Given the description of an element on the screen output the (x, y) to click on. 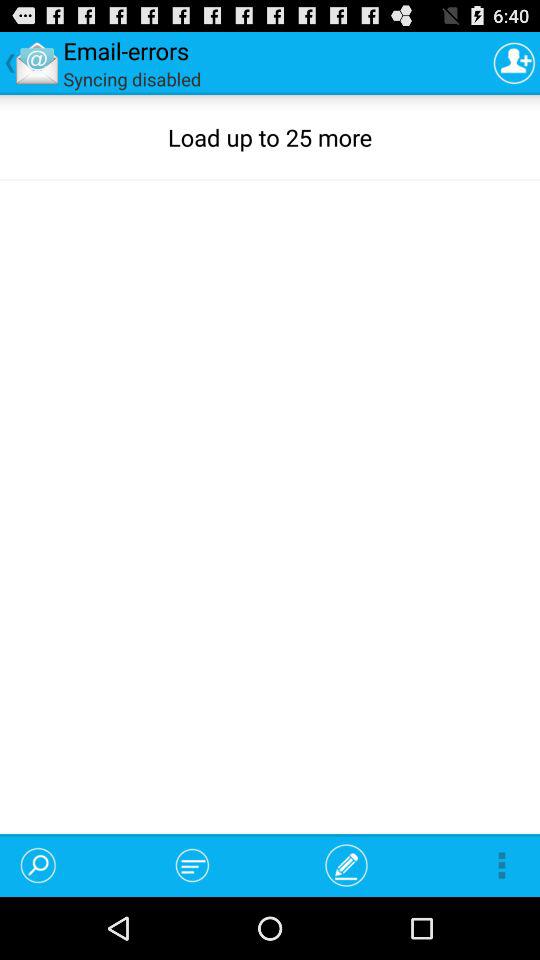
turn off the icon at the top right corner (514, 62)
